Given the description of an element on the screen output the (x, y) to click on. 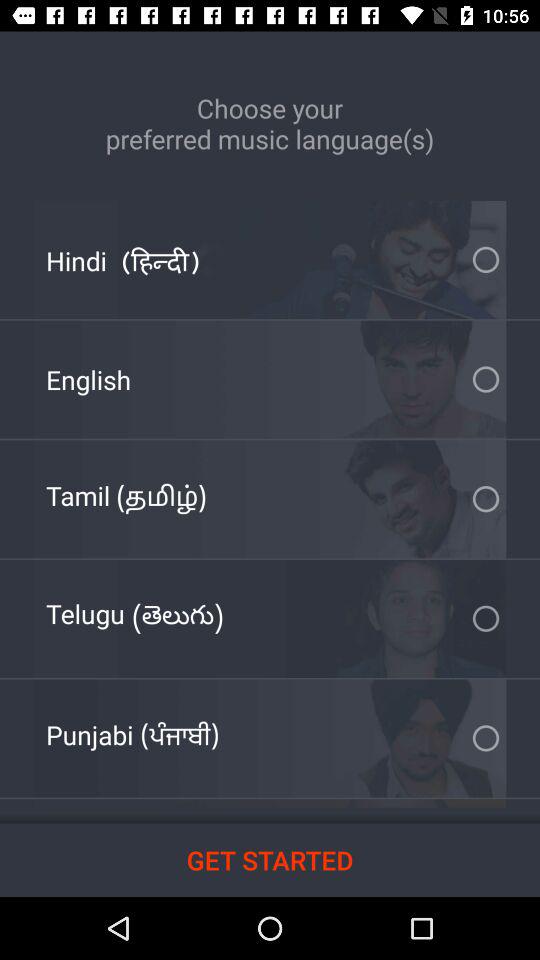
scroll until the english (88, 379)
